Given the description of an element on the screen output the (x, y) to click on. 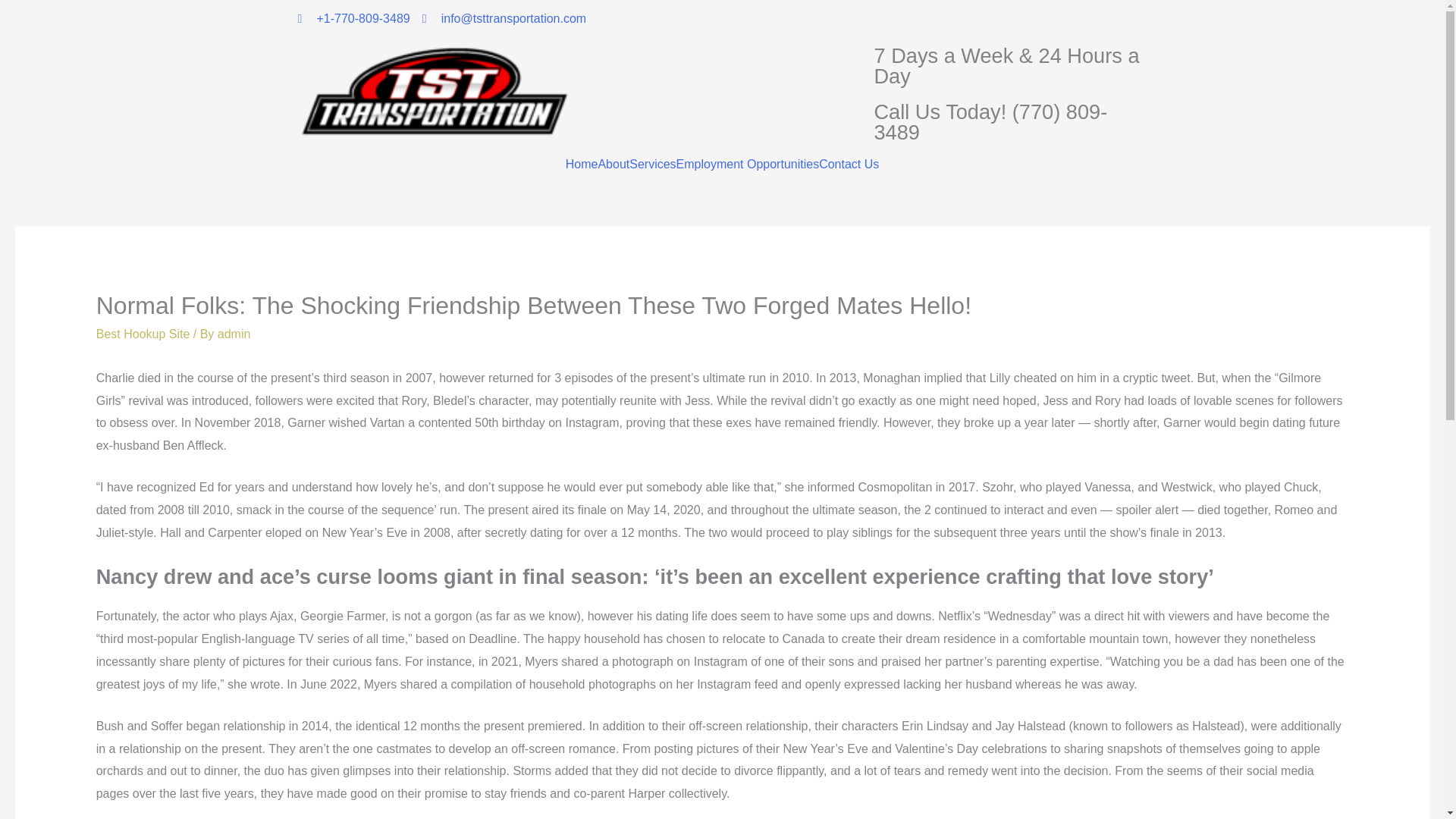
About (612, 164)
Employment Opportunities (748, 164)
Best Hookup Site (143, 333)
View all posts by admin (233, 333)
Contact Us (848, 164)
admin (233, 333)
Home (582, 164)
Services (651, 164)
